Given the description of an element on the screen output the (x, y) to click on. 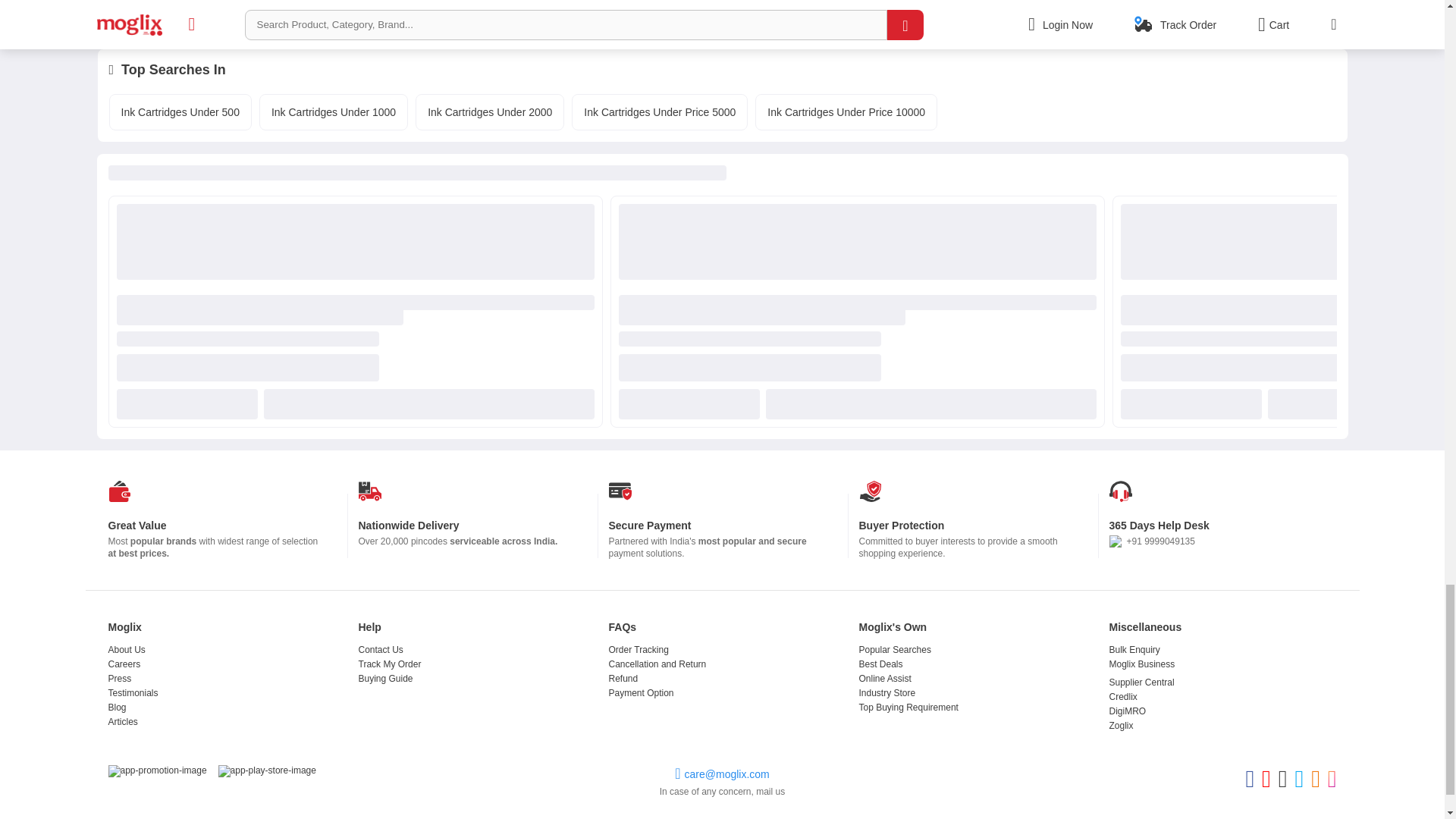
Articles (121, 721)
Ink Cartridges Under Price 10000 (845, 111)
Best Deals (880, 664)
Industry Store (887, 692)
About Us (125, 649)
Popular Searches (894, 649)
Online Assist (885, 678)
Contact Us (380, 649)
Refund (622, 678)
Ink Cartridges Under Price 5000 (659, 111)
